Given the description of an element on the screen output the (x, y) to click on. 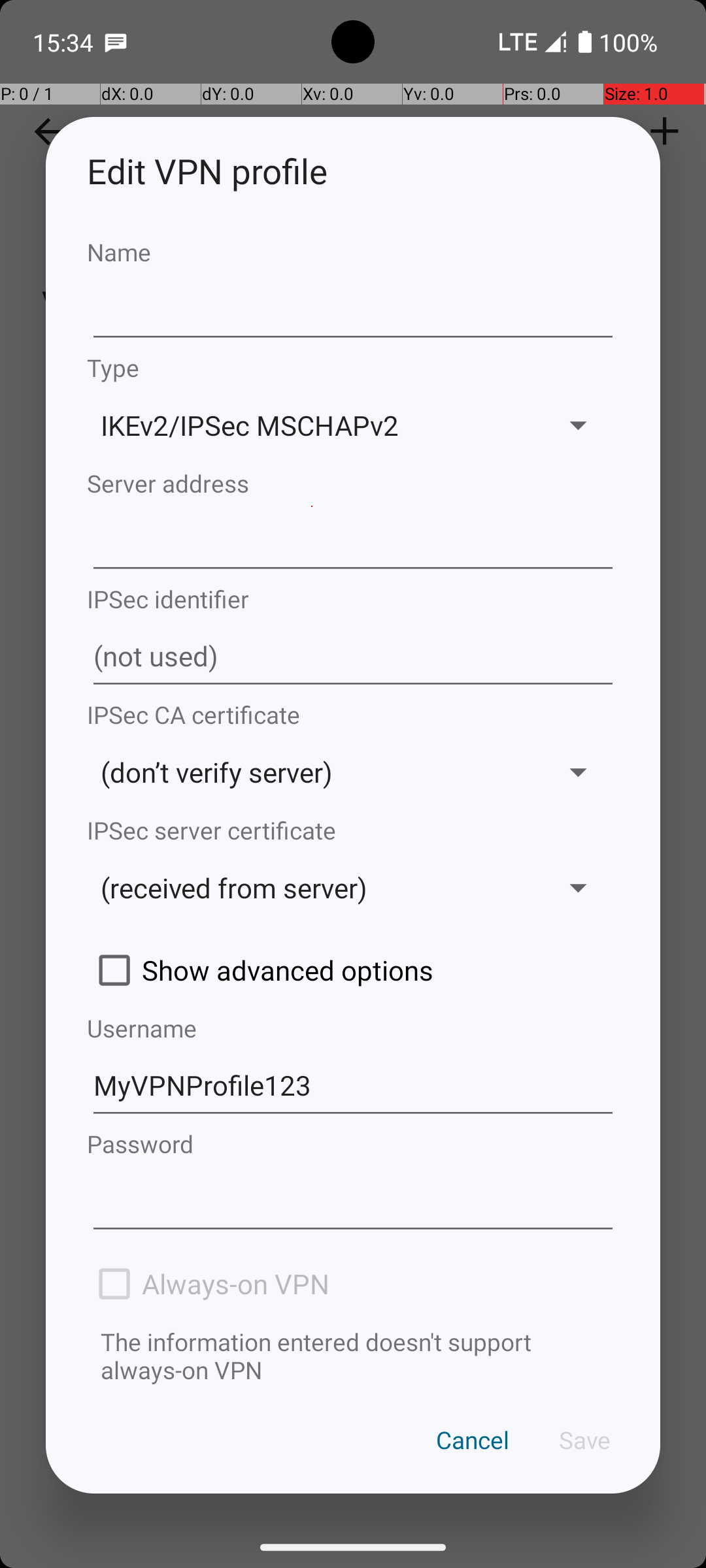
Edit VPN profile Element type: android.widget.TextView (352, 170)
Server address Element type: android.widget.TextView (352, 482)
IPSec identifier Element type: android.widget.TextView (352, 598)
(not used) Element type: android.widget.EditText (352, 656)
IPSec CA certificate Element type: android.widget.TextView (352, 714)
IPSec server certificate Element type: android.widget.TextView (352, 829)
Show advanced options Element type: android.widget.CheckBox (352, 970)
Username Element type: android.widget.TextView (352, 1027)
MyVPNProfile123 Element type: android.widget.EditText (352, 1085)
Password Element type: android.widget.TextView (352, 1143)
Always-on VPN Element type: android.widget.CheckBox (352, 1283)
The information entered doesn't support always-on VPN Element type: android.widget.TextView (352, 1355)
IKEv2/IPSec MSCHAPv2 Element type: android.widget.TextView (311, 424)
(don’t verify server) Element type: android.widget.TextView (311, 771)
(received from server) Element type: android.widget.TextView (311, 887)
